Given the description of an element on the screen output the (x, y) to click on. 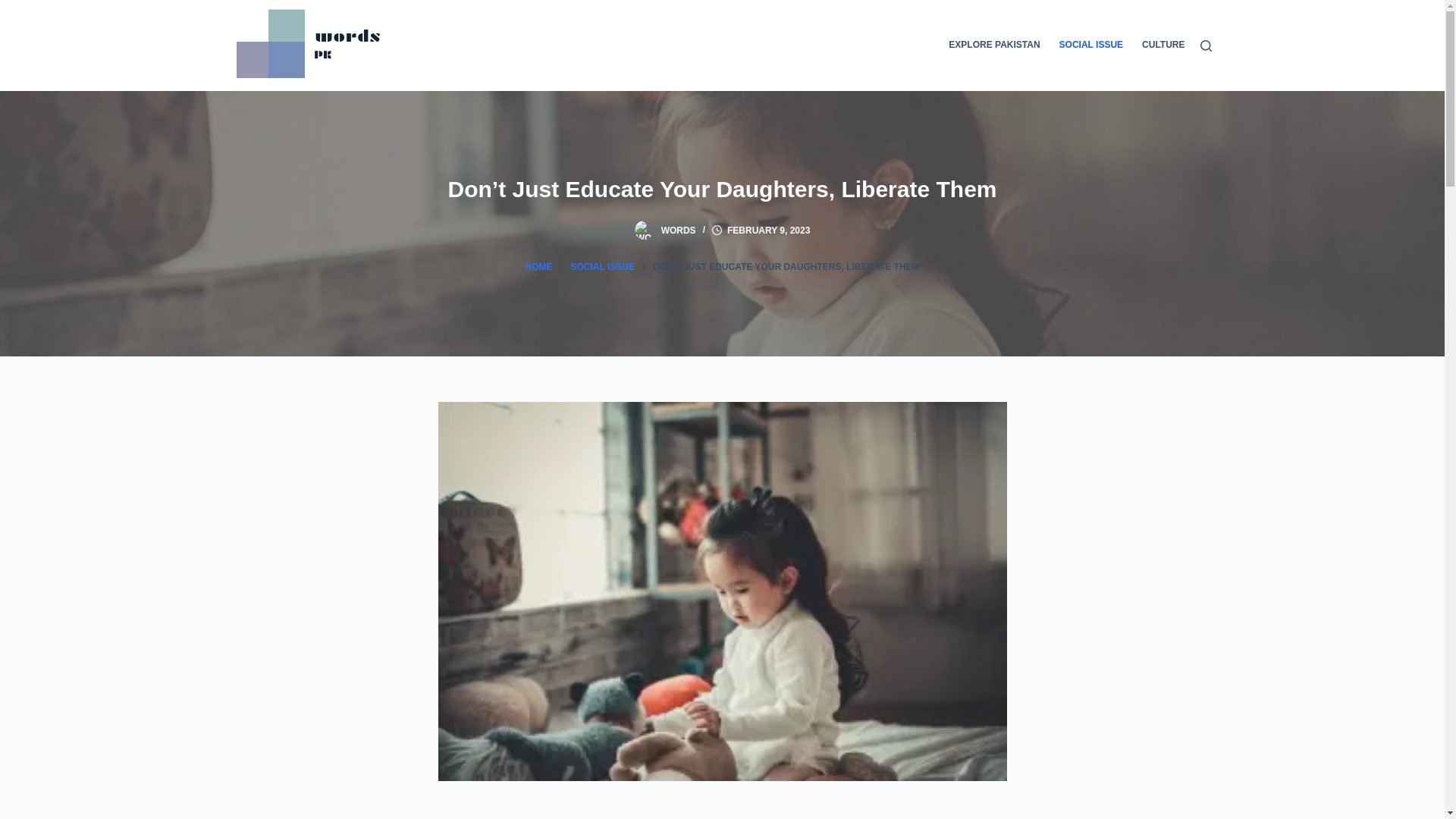
WORDS (678, 230)
EXPLORE PAKISTAN (999, 45)
SOCIAL ISSUE (601, 267)
HOME (537, 267)
SOCIAL ISSUE (1090, 45)
Skip to content (15, 7)
Posts by Words (678, 230)
